Given the description of an element on the screen output the (x, y) to click on. 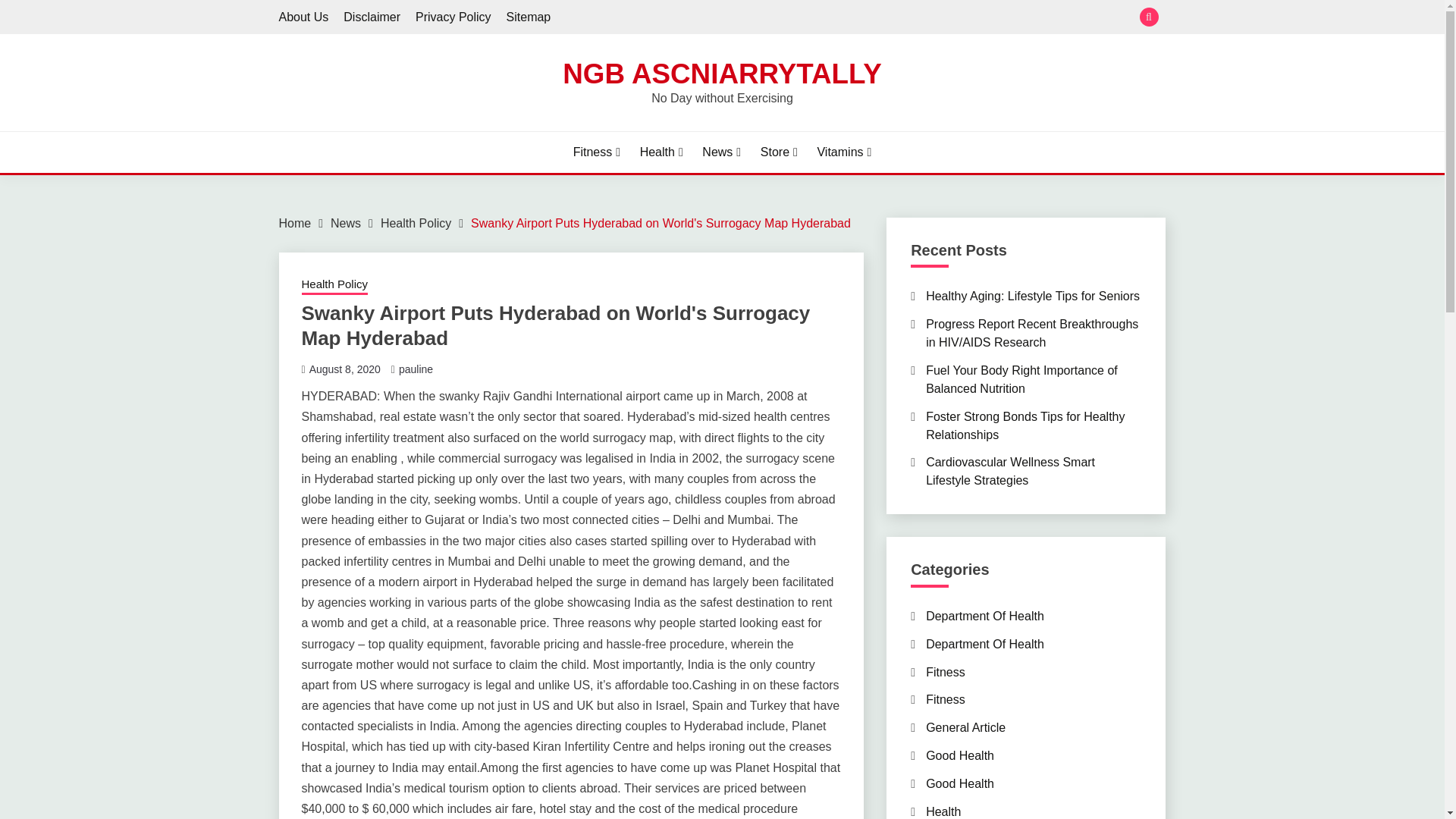
News (721, 152)
Search (832, 18)
Home (295, 223)
Health (661, 152)
Disclaimer (371, 16)
NGB ASCNIARRYTALLY (721, 73)
News (345, 223)
Store (778, 152)
Vitamins (843, 152)
Fitness (596, 152)
About Us (304, 16)
Privacy Policy (453, 16)
Health Policy (415, 223)
Sitemap (528, 16)
